Given the description of an element on the screen output the (x, y) to click on. 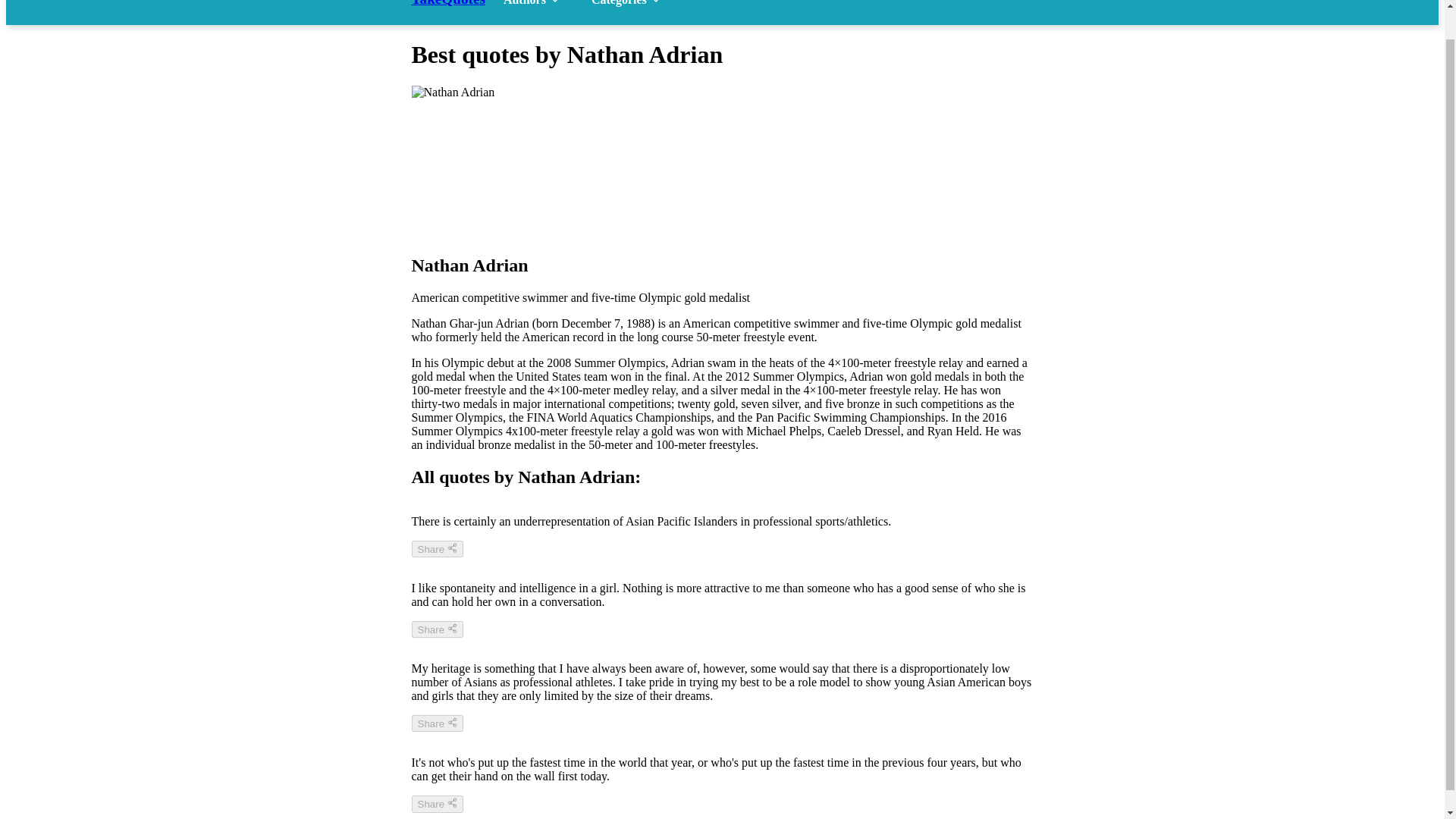
Share (436, 723)
Share (436, 548)
Customize, save and share (436, 803)
Customize, save and share (436, 629)
Share (436, 803)
TakeQuotes (453, 3)
Customize, save and share (436, 723)
Share (436, 629)
Customize, save and share (436, 548)
